Given the description of an element on the screen output the (x, y) to click on. 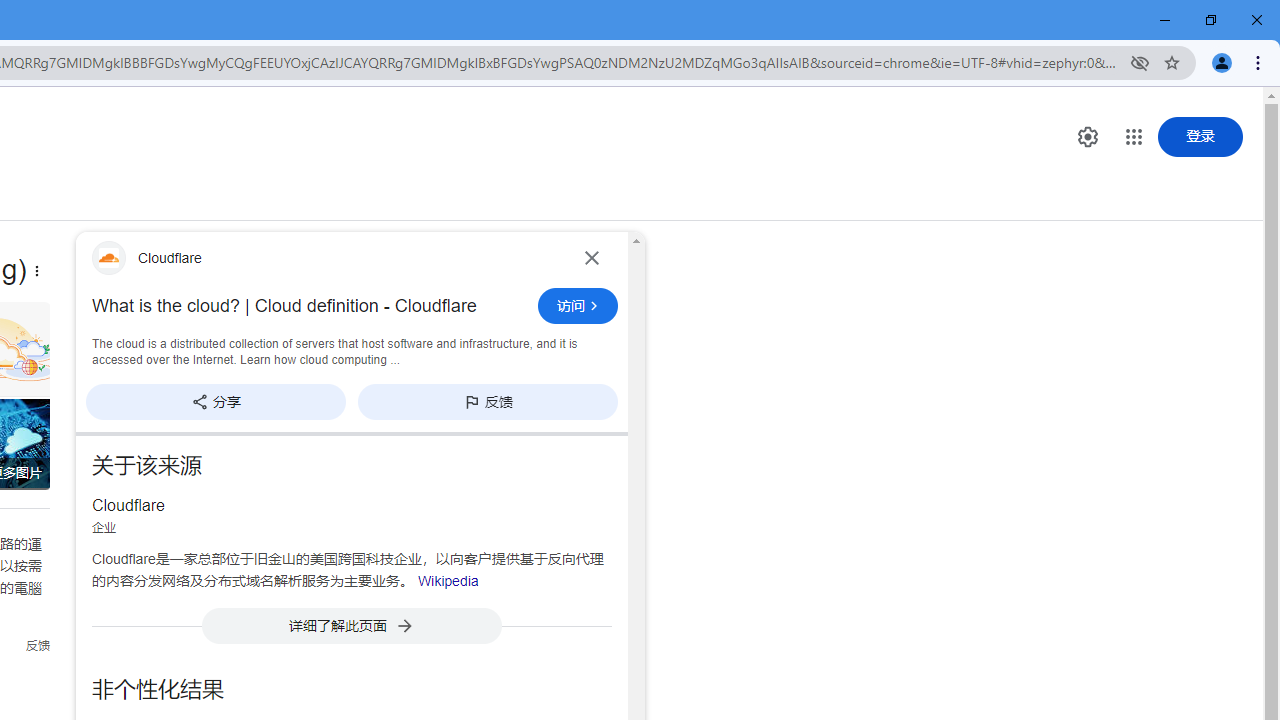
Wikipedia (447, 580)
Cloudflare (326, 257)
What is the cloud? | Cloud definition - Cloudflare (309, 305)
Third-party cookies blocked (1139, 62)
